Given the description of an element on the screen output the (x, y) to click on. 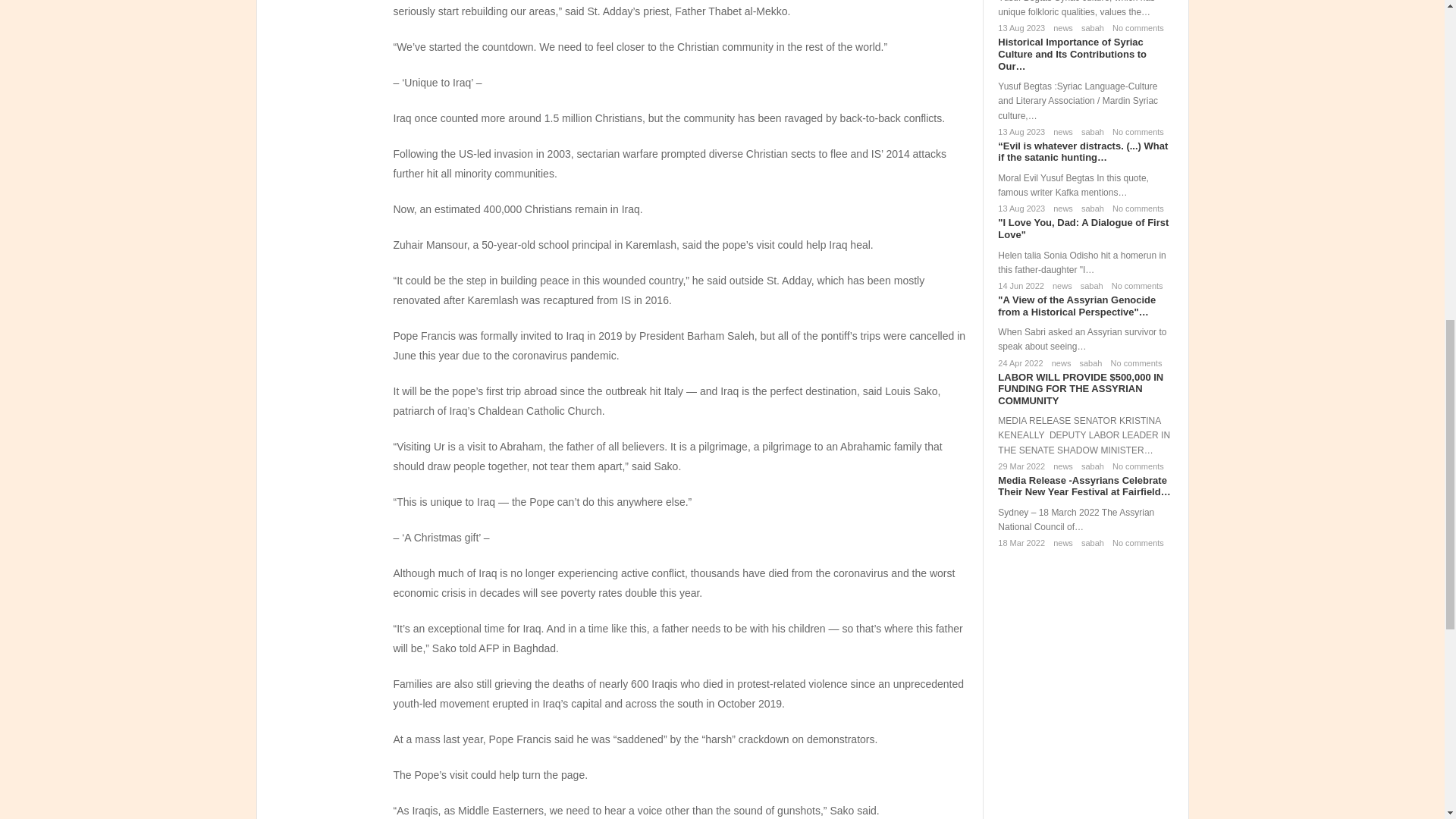
I Love You, Dad: A Dialogue of First Love (1083, 228)
